Given the description of an element on the screen output the (x, y) to click on. 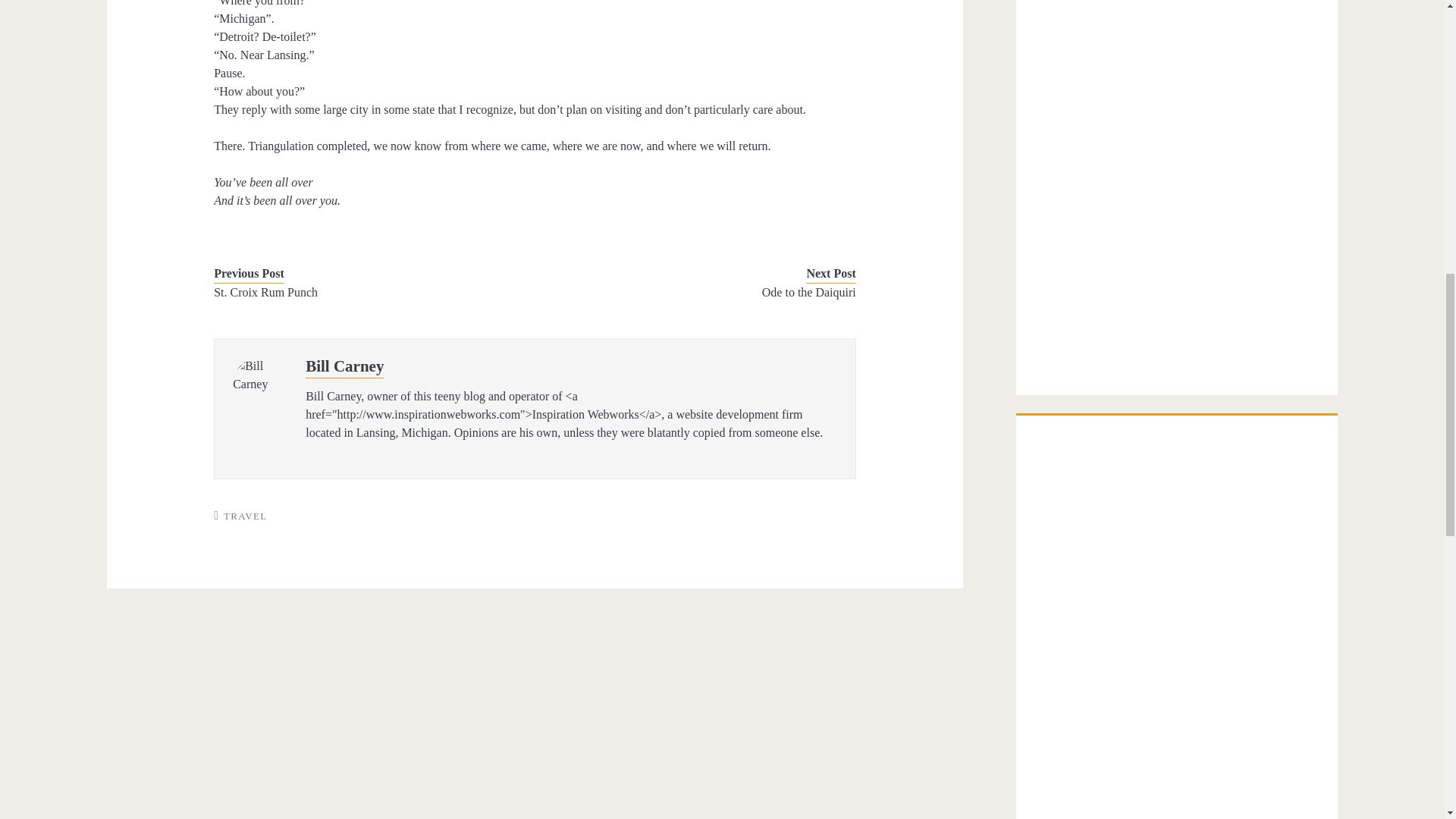
Bill Carney (344, 366)
St. Croix Rum Punch (361, 292)
TRAVEL (245, 515)
Ode to the Daiquiri (708, 292)
View all posts in Travel (245, 515)
